Given the description of an element on the screen output the (x, y) to click on. 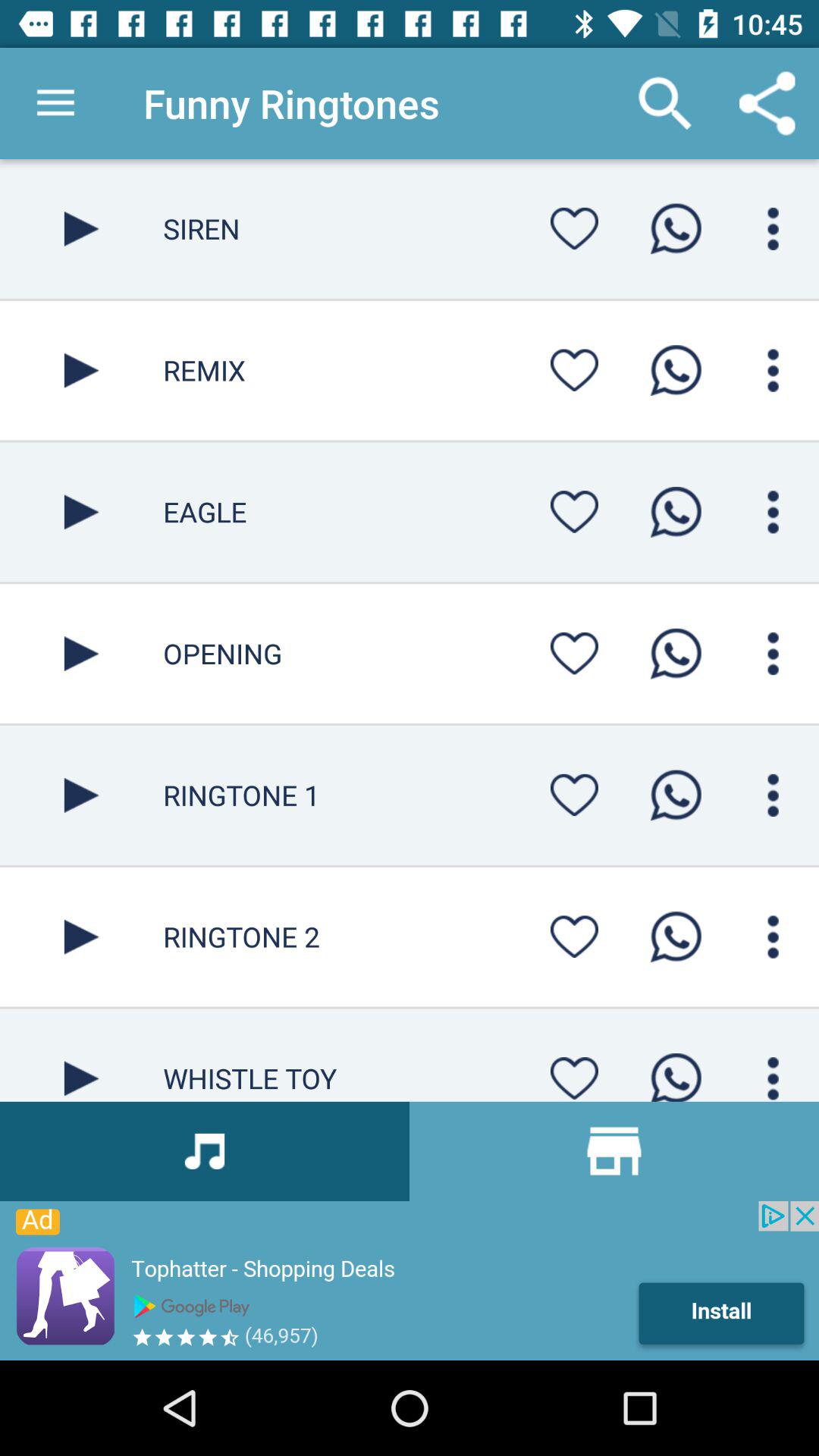
ringtones settings page (574, 228)
